Given the description of an element on the screen output the (x, y) to click on. 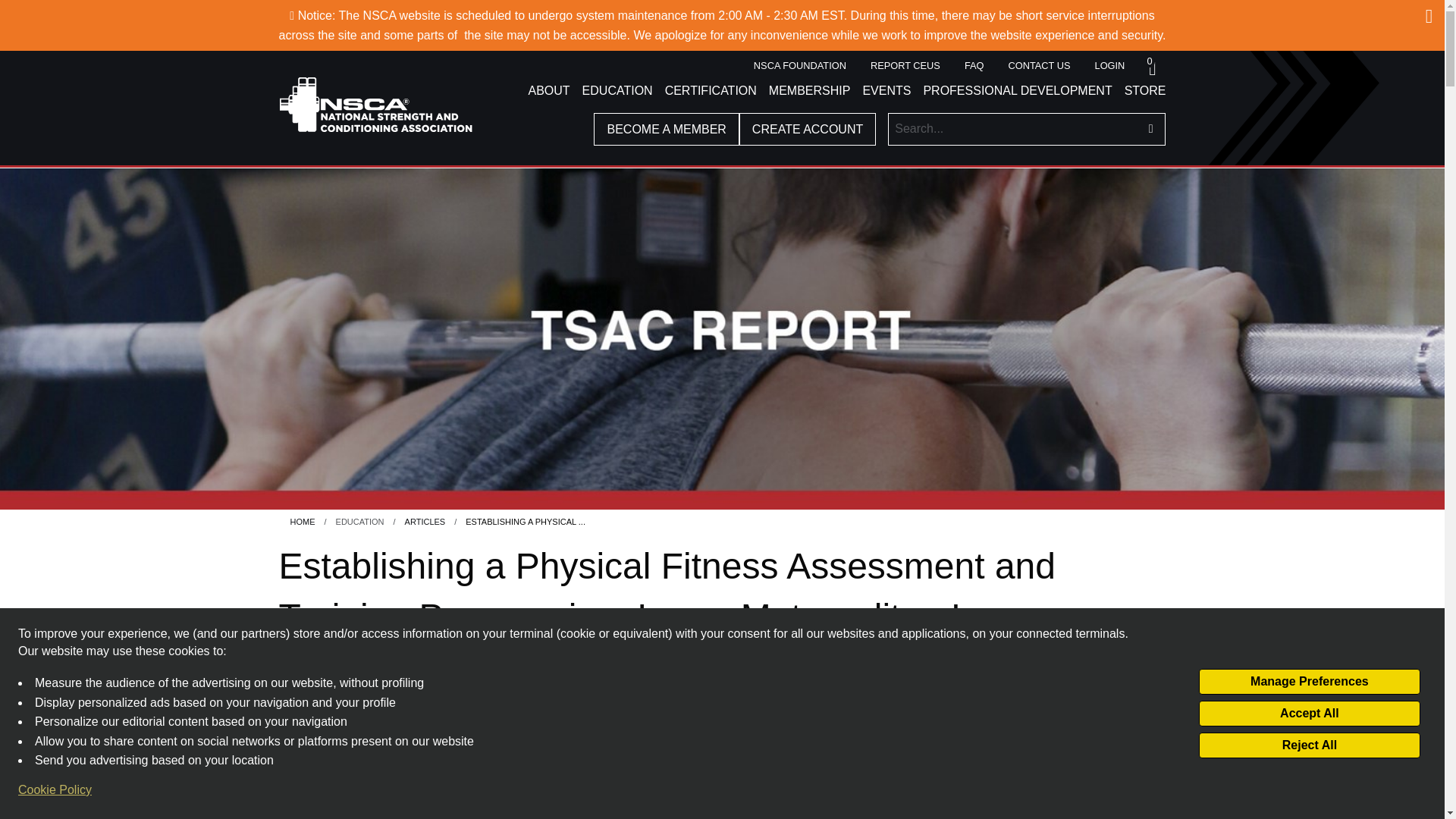
Manage Preferences (1309, 681)
Shopping cart (1151, 65)
Reject All (1309, 745)
Accept All (1309, 713)
Cookie Policy (54, 789)
